Given the description of an element on the screen output the (x, y) to click on. 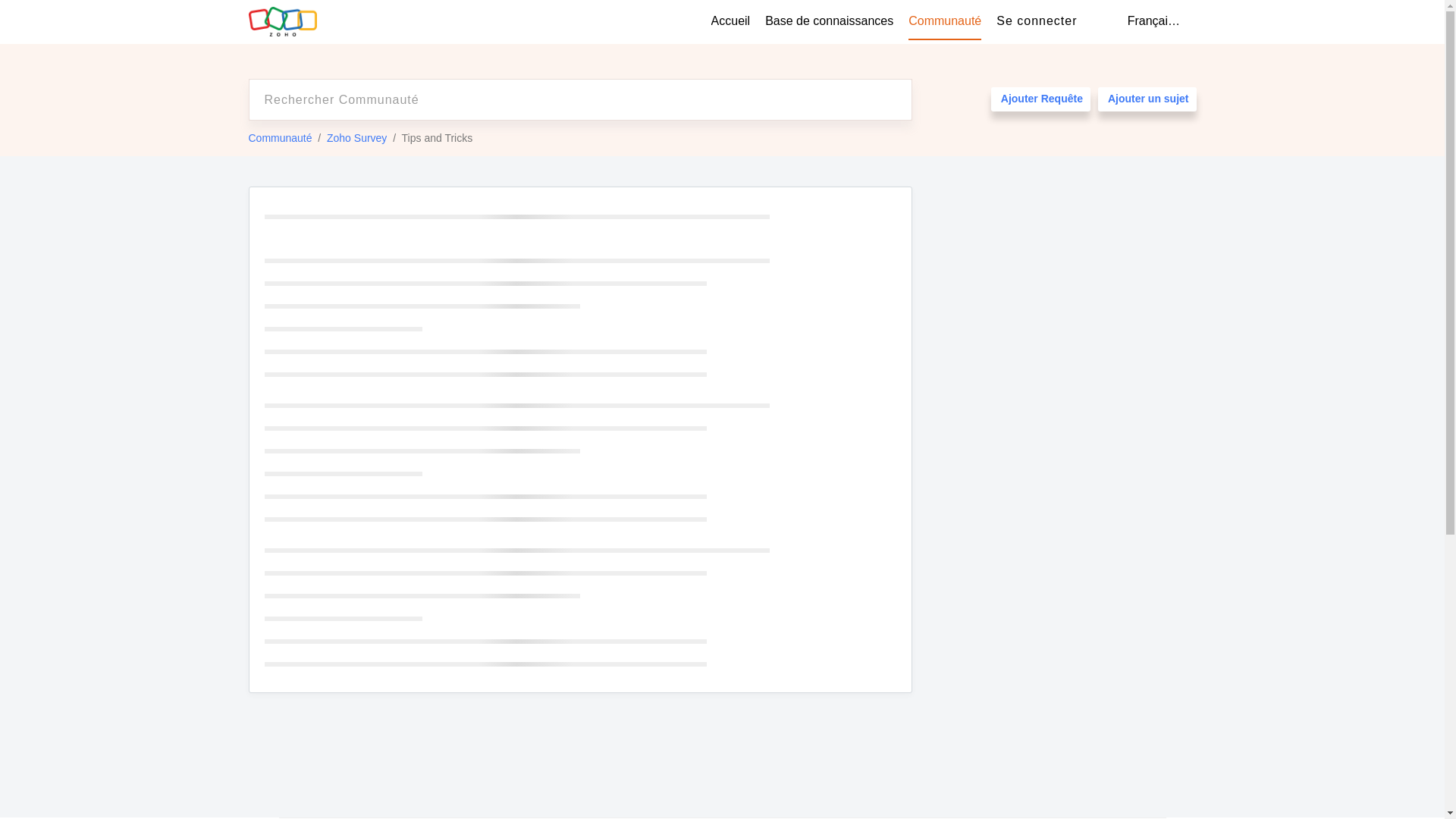
Zoho Survey (356, 137)
Accueil (731, 21)
Base de connaissances (829, 21)
Base de connaissances (829, 21)
Ajouter un sujet (1146, 98)
Accueil (731, 21)
